Given the description of an element on the screen output the (x, y) to click on. 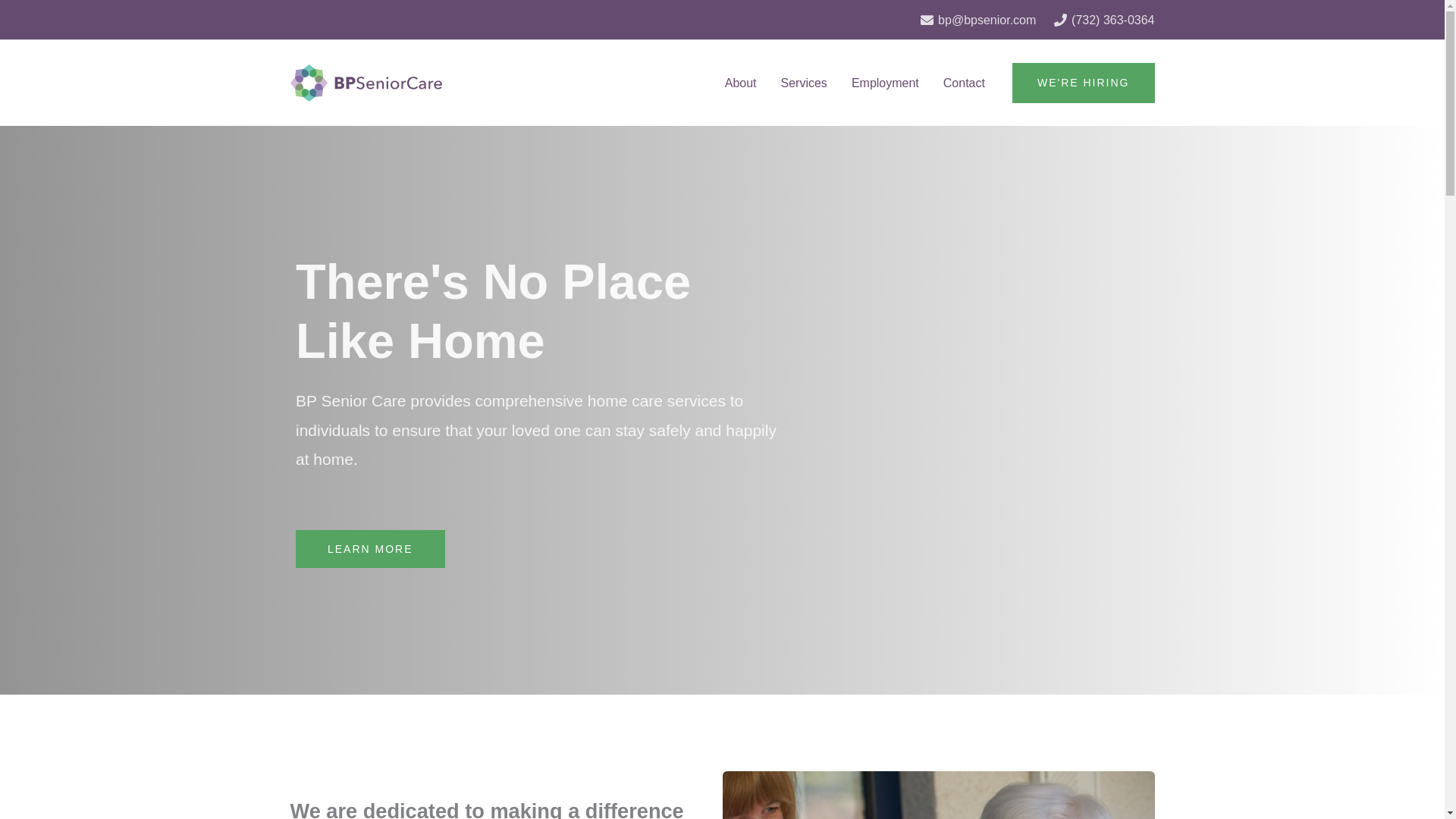
LEARN MORE (370, 548)
WE'RE HIRING (1082, 82)
Services (804, 82)
Contact (964, 82)
Employment (885, 82)
About (740, 82)
